Given the description of an element on the screen output the (x, y) to click on. 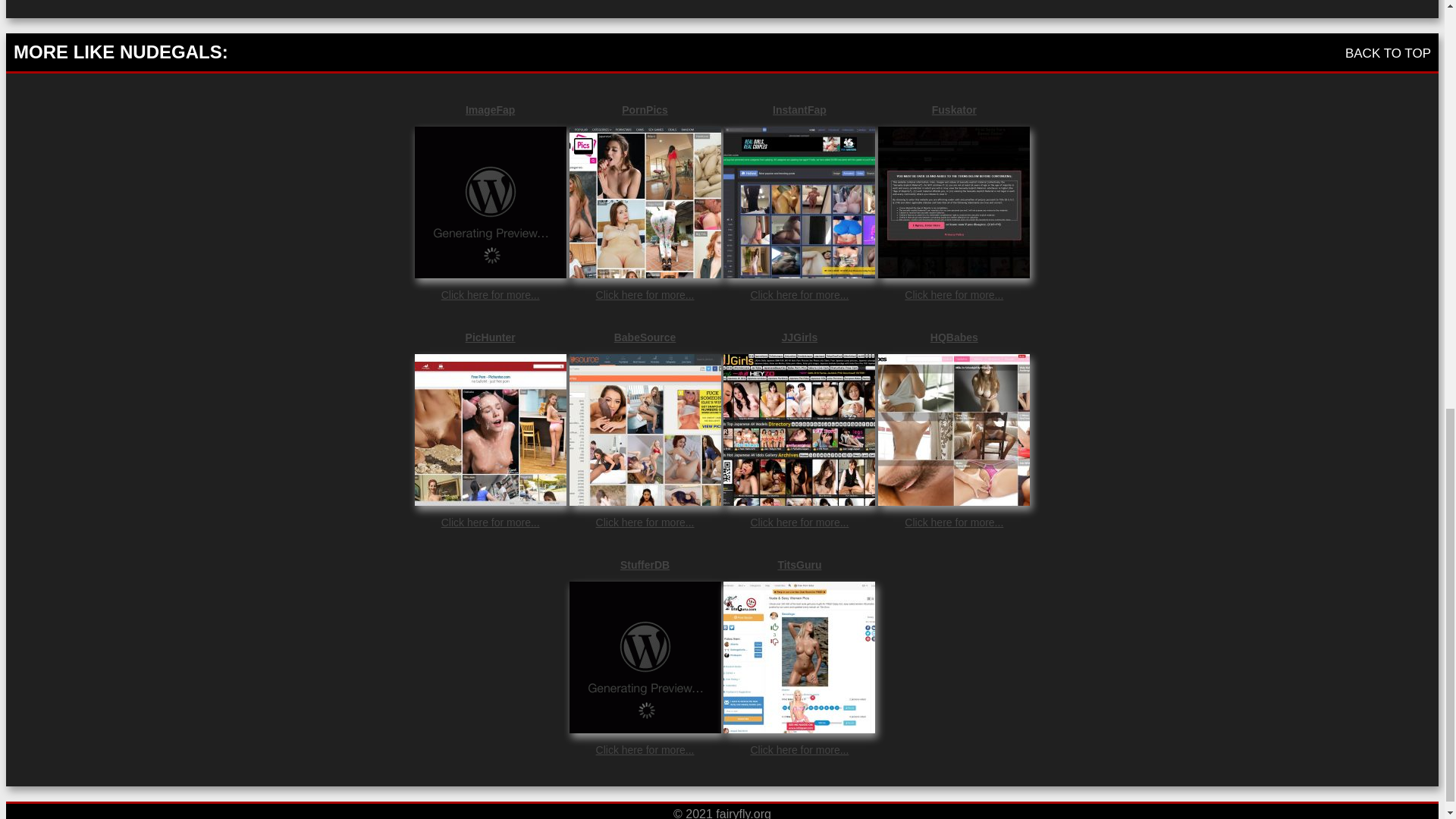
Click here for more... (798, 295)
Click here for more... (953, 295)
Click here for more... (798, 749)
Click here for more... (490, 522)
InstantFap (799, 110)
PicHunter (490, 337)
BabeSource (644, 337)
ImageFap (490, 110)
TitsGuru (799, 564)
Fuskator (953, 110)
Click here for more... (490, 295)
Click here for more... (953, 522)
Click here for more... (644, 522)
BACK TO TOP (1388, 52)
Click here for more... (644, 295)
